Given the description of an element on the screen output the (x, y) to click on. 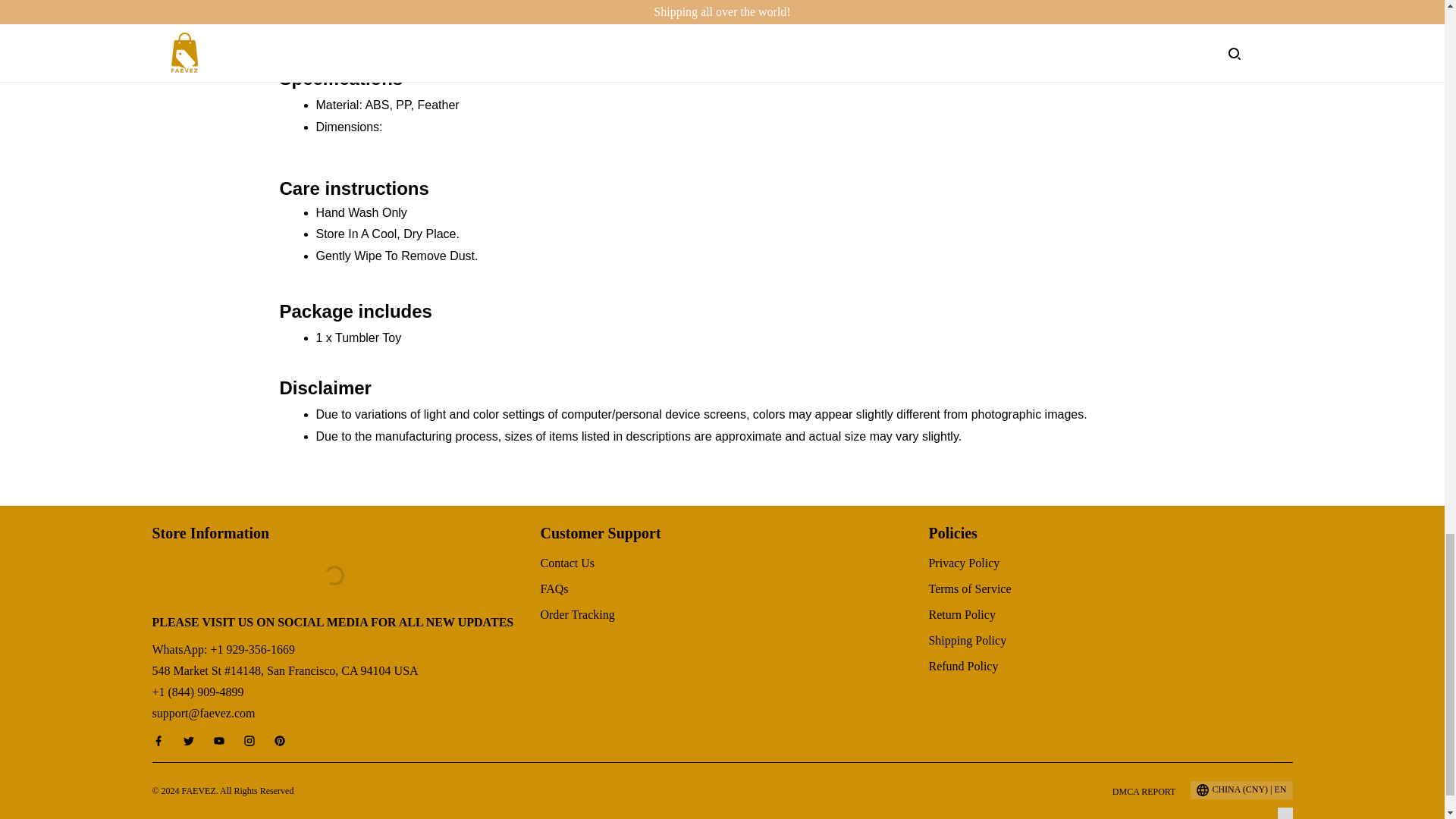
FAQs (553, 588)
Terms of Service (969, 588)
DMCA REPORT (1144, 791)
Refund Policy (962, 666)
Return Policy (961, 614)
Shipping Policy (967, 640)
Privacy Policy (963, 562)
Order Tracking (577, 614)
Contact Us (567, 562)
